Given the description of an element on the screen output the (x, y) to click on. 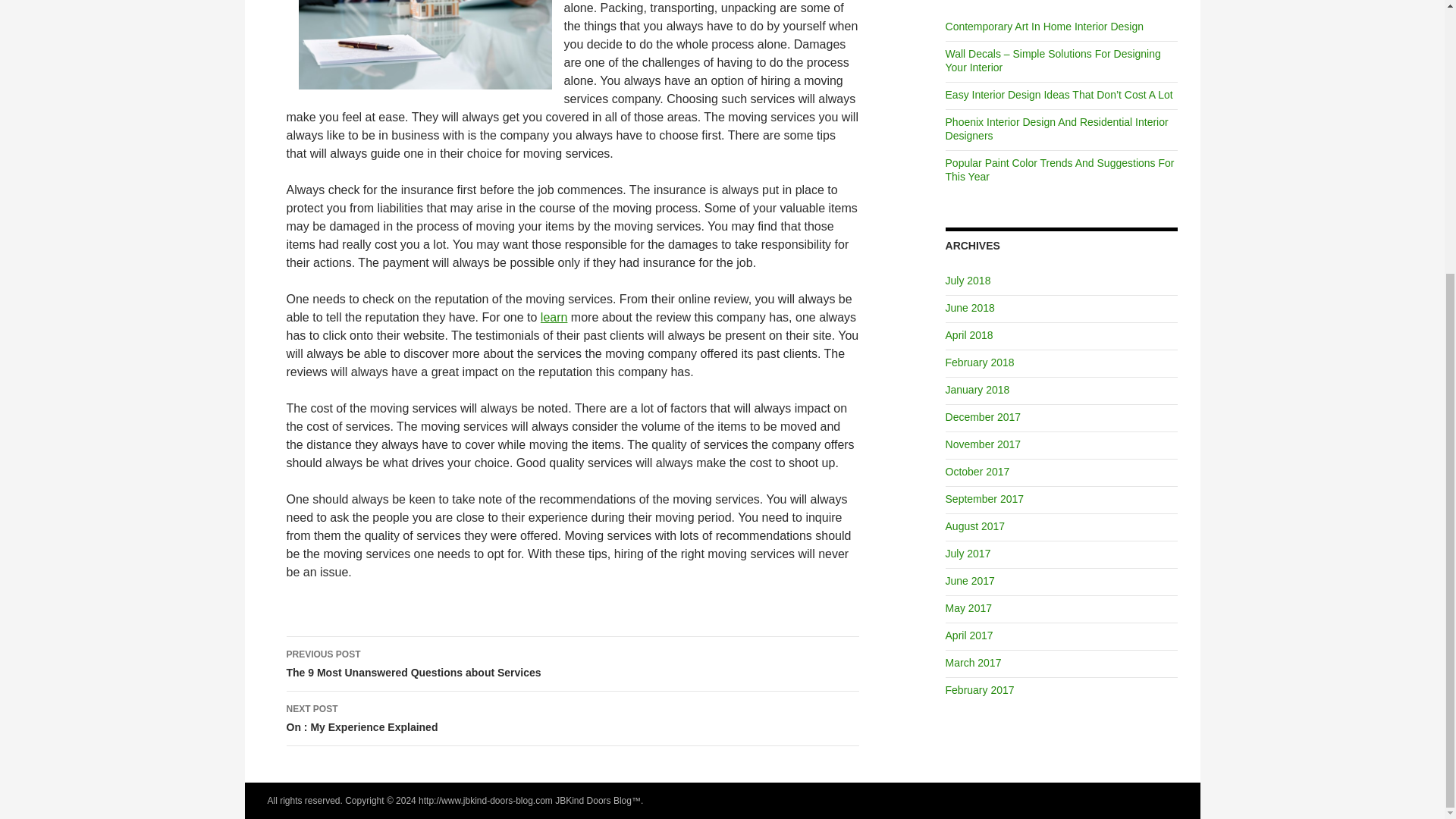
July 2018 (967, 280)
May 2017 (967, 607)
March 2017 (972, 662)
April 2017 (968, 635)
June 2018 (572, 664)
Popular Paint Color Trends And Suggestions For This Year (969, 307)
September 2017 (1059, 169)
July 2017 (984, 499)
August 2017 (967, 553)
